Given the description of an element on the screen output the (x, y) to click on. 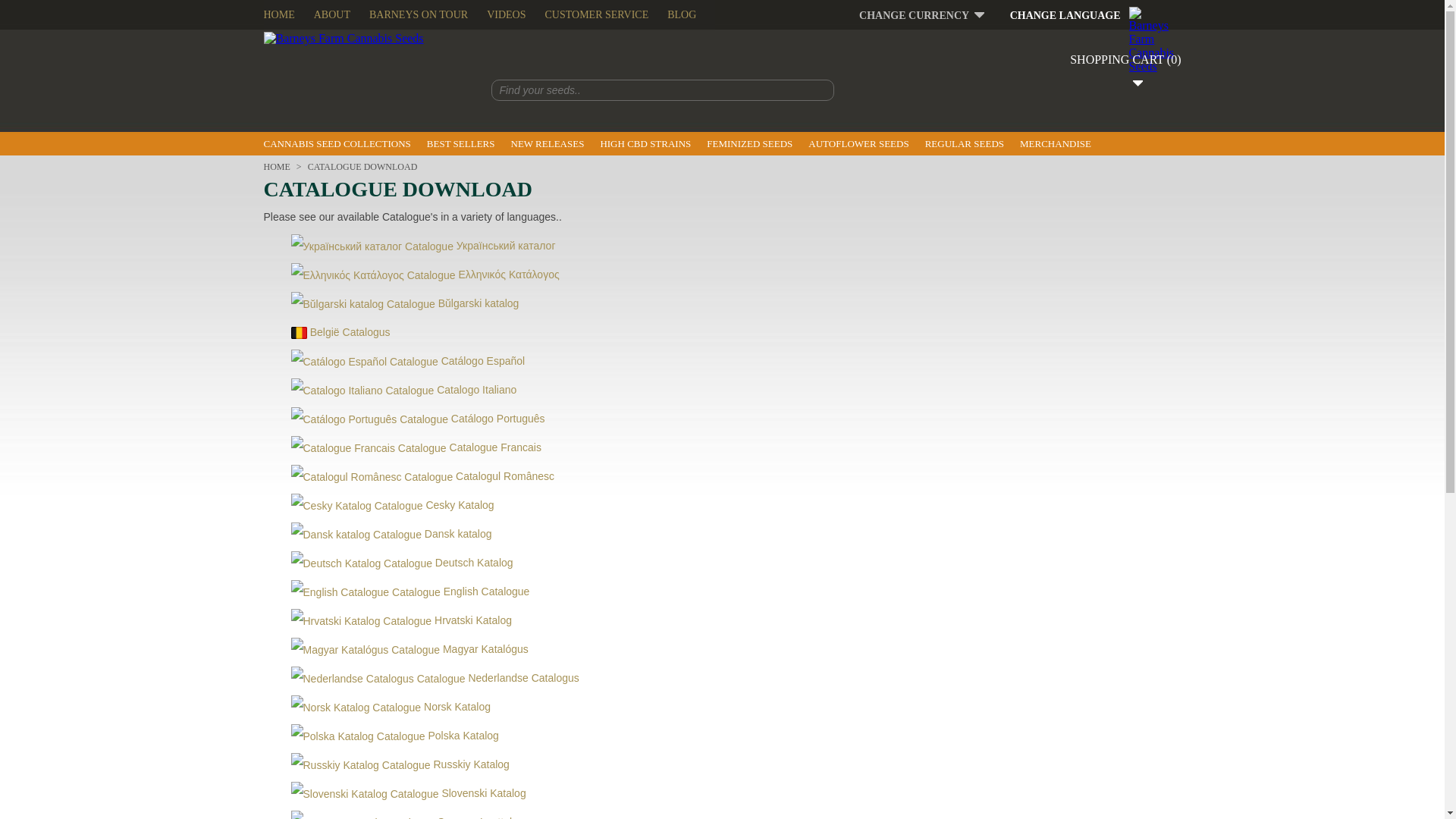
FEMINIZED SEEDS (749, 143)
NEW RELEASE (548, 143)
HIGH CBD STRAINS (644, 143)
BEST SELLERS (460, 143)
ABOUT (332, 14)
VIDEOS (505, 14)
MERCHANDISE (1055, 143)
HOME (279, 14)
CANNABIS SEED COLLECTIONS (336, 143)
Barneys Farm Cannabis Seeds (343, 38)
